Given the description of an element on the screen output the (x, y) to click on. 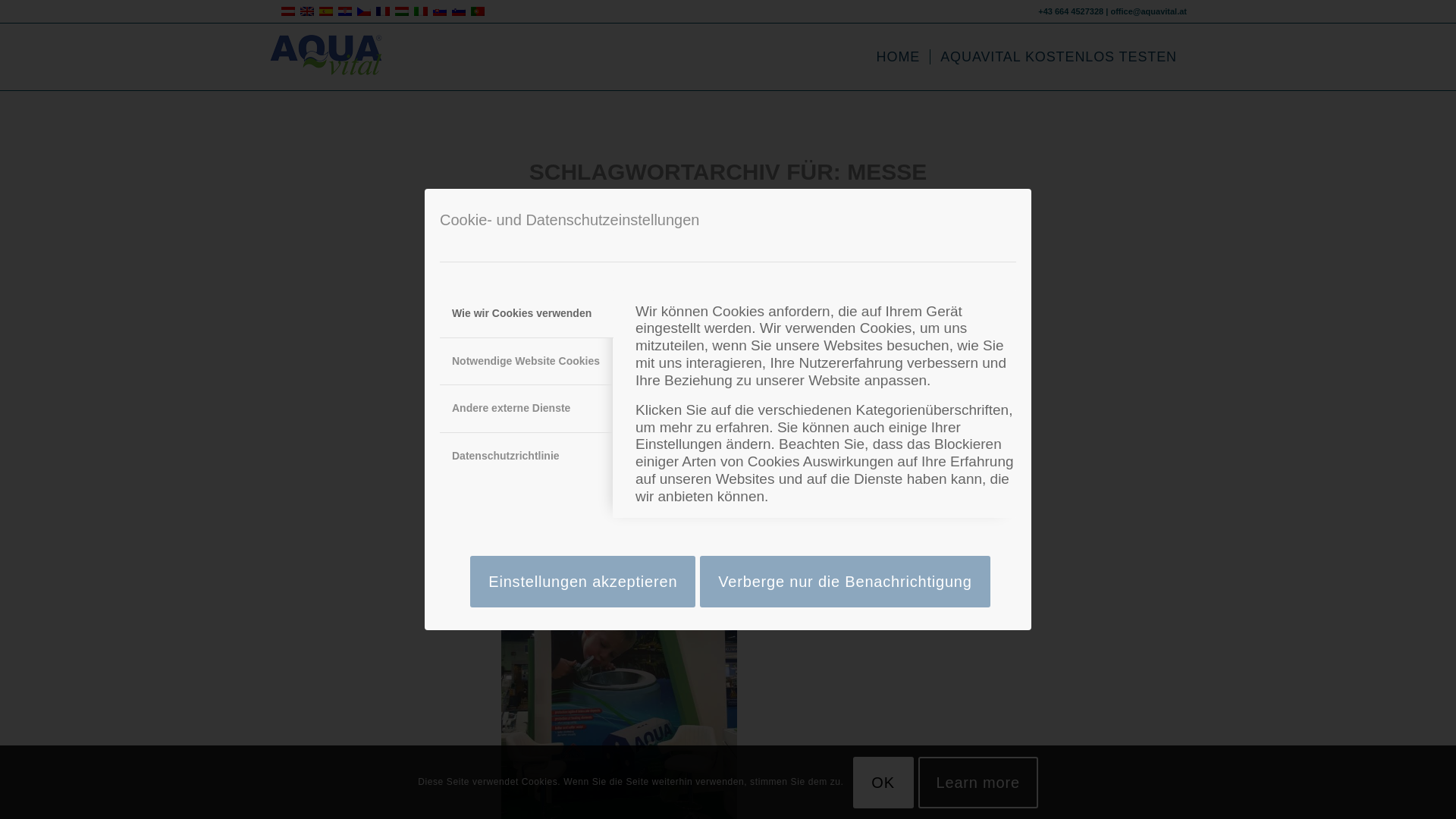
Italiano (420, 10)
Website (551, 381)
EXPORT (519, 313)
Magyar (401, 10)
Einstellungen akzeptieren (582, 581)
Deutsch (288, 10)
Hrvatski (344, 10)
English (306, 10)
Website (827, 381)
Verberge nur die Benachrichtigung (845, 581)
